Given the description of an element on the screen output the (x, y) to click on. 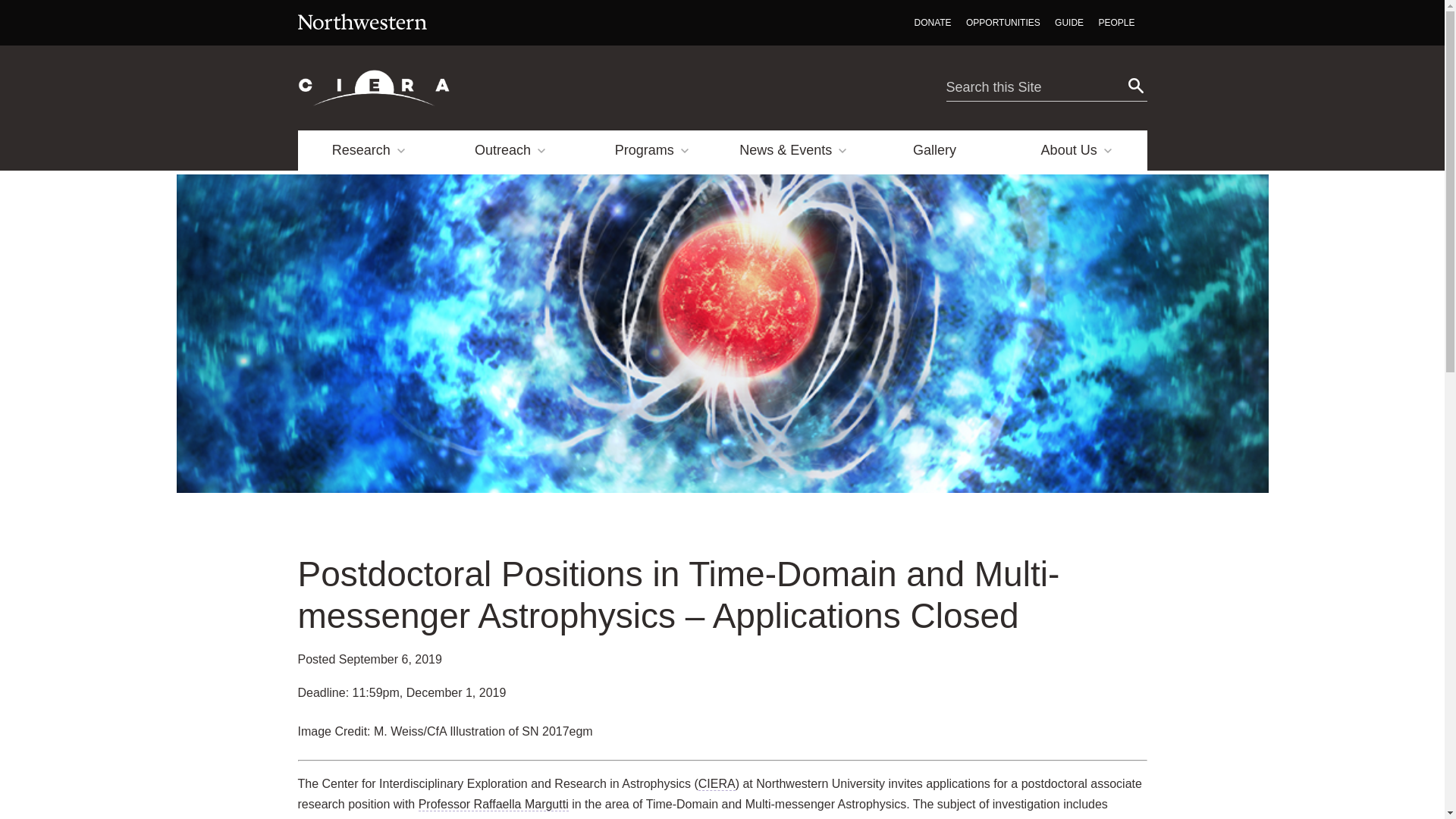
GUIDE (1068, 22)
DONATE (933, 22)
OPPORTUNITIES (1003, 22)
PEOPLE (1115, 22)
